Given the description of an element on the screen output the (x, y) to click on. 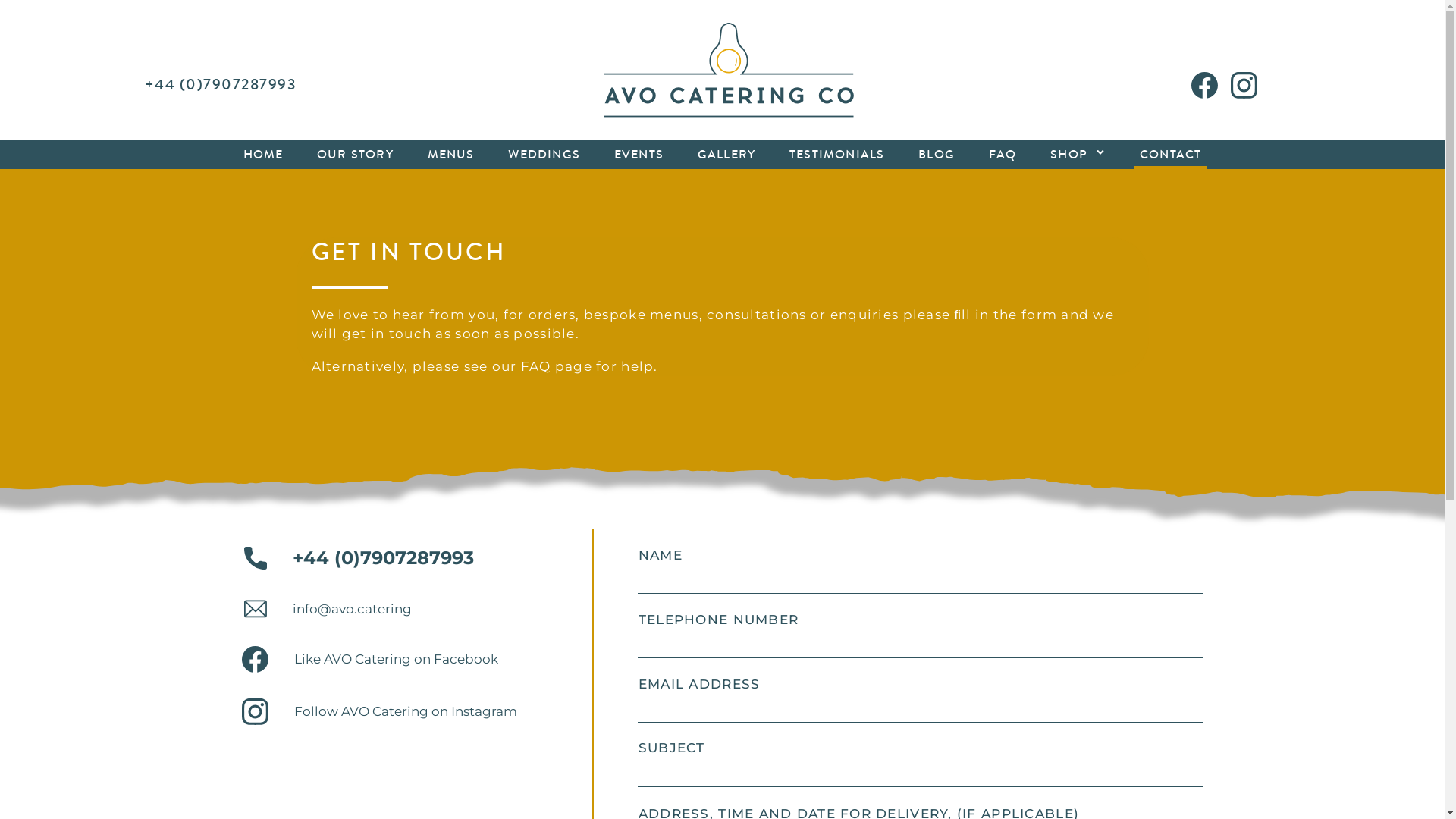
BLOG Element type: text (936, 154)
Like AVO Catering on Facebook Element type: text (369, 659)
info@avo.catering Element type: text (326, 608)
CONTACT Element type: text (1170, 154)
EVENTS Element type: text (638, 154)
GALLERY Element type: text (726, 154)
FAQ Element type: text (1002, 154)
Follow AVO Catering on Instagram Element type: text (378, 711)
Open child menu Element type: text (1099, 151)
SHOP Element type: text (1071, 154)
OUR STORY Element type: text (354, 154)
WEDDINGS Element type: text (544, 154)
+44 (0)7907287993 Element type: text (357, 557)
MENUS Element type: text (450, 154)
TESTIMONIALS Element type: text (836, 154)
HOME Element type: text (262, 154)
+44 (0)7907287993 Element type: text (220, 84)
